Given the description of an element on the screen output the (x, y) to click on. 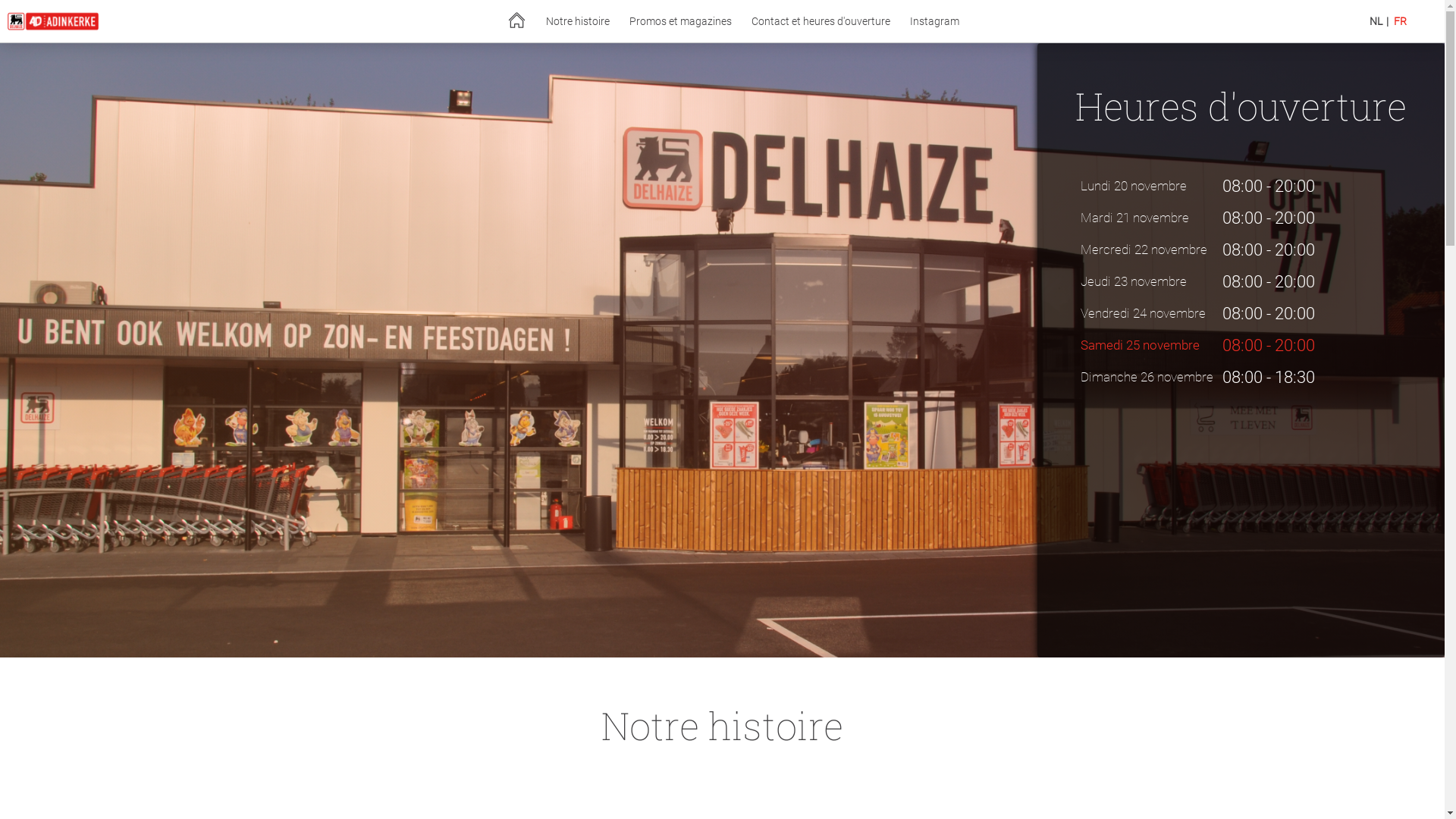
Instagram Element type: text (934, 21)
Contact et heures d'ouverture Element type: text (820, 21)
Promos et magazines Element type: text (680, 21)
FR Element type: text (1399, 21)
NL Element type: text (1375, 21)
Notre histoire Element type: text (577, 21)
